Given the description of an element on the screen output the (x, y) to click on. 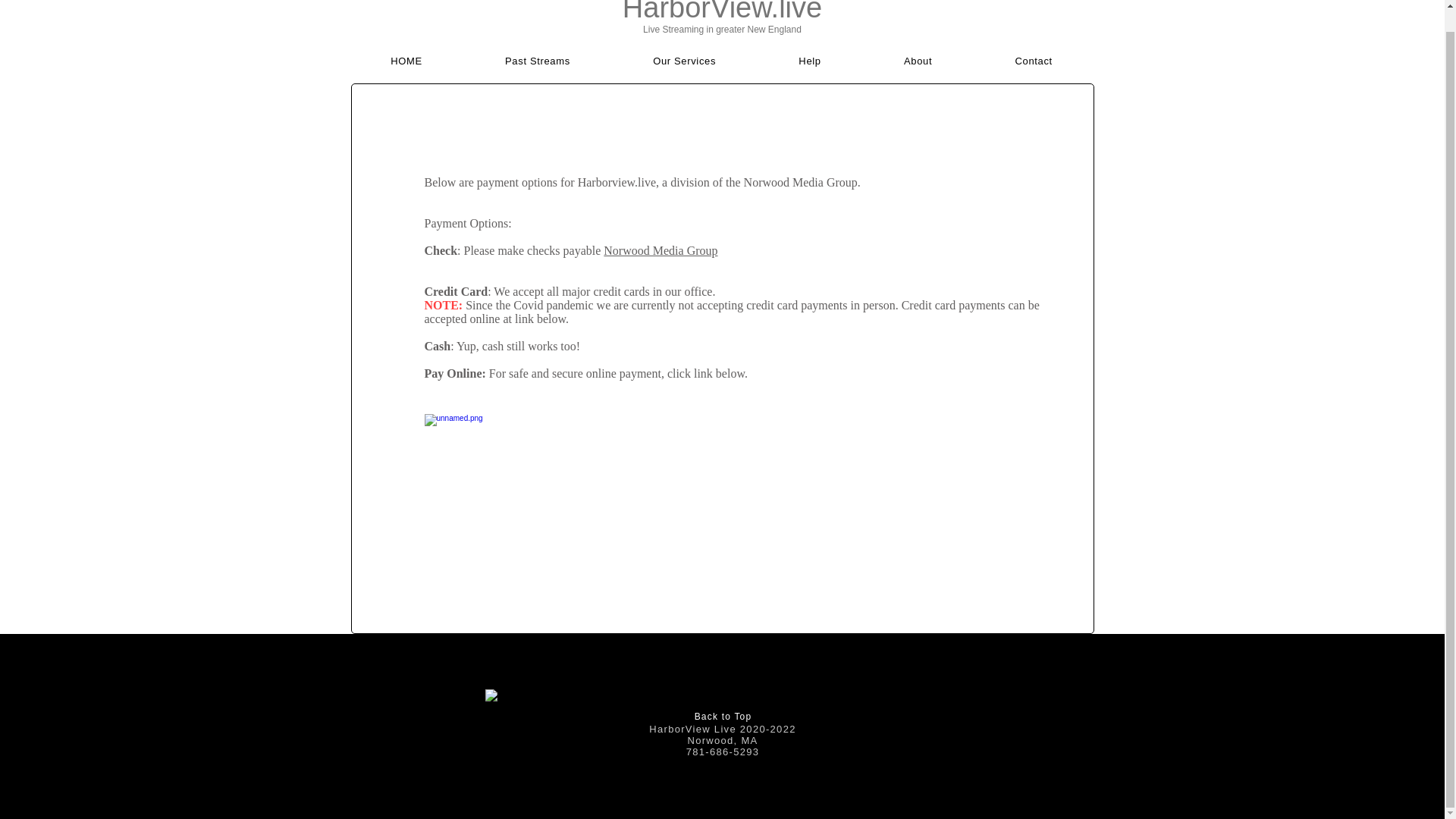
Contact (1033, 60)
About (917, 60)
Help (810, 60)
Our Services (684, 60)
Live Streaming in greater New England (722, 29)
HarborView.live (722, 11)
HOME (406, 60)
Back to Top (723, 716)
Past Streams (536, 60)
